Given the description of an element on the screen output the (x, y) to click on. 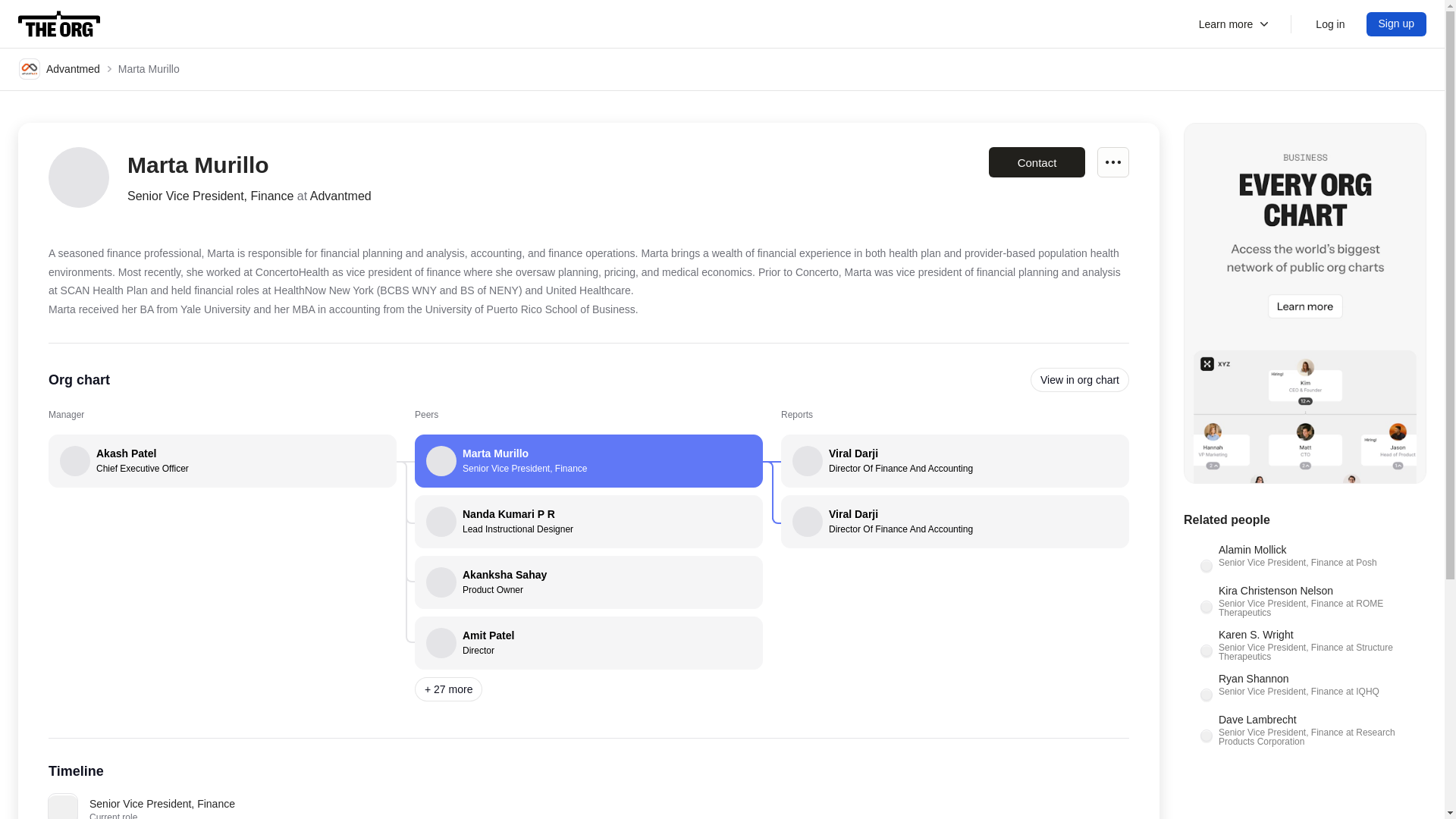
Log in (588, 582)
Learn more (1329, 24)
Advantmed (1234, 24)
The Org Home (59, 68)
Contact (58, 23)
View in org chart (588, 642)
Log in to The Org (588, 521)
